Given the description of an element on the screen output the (x, y) to click on. 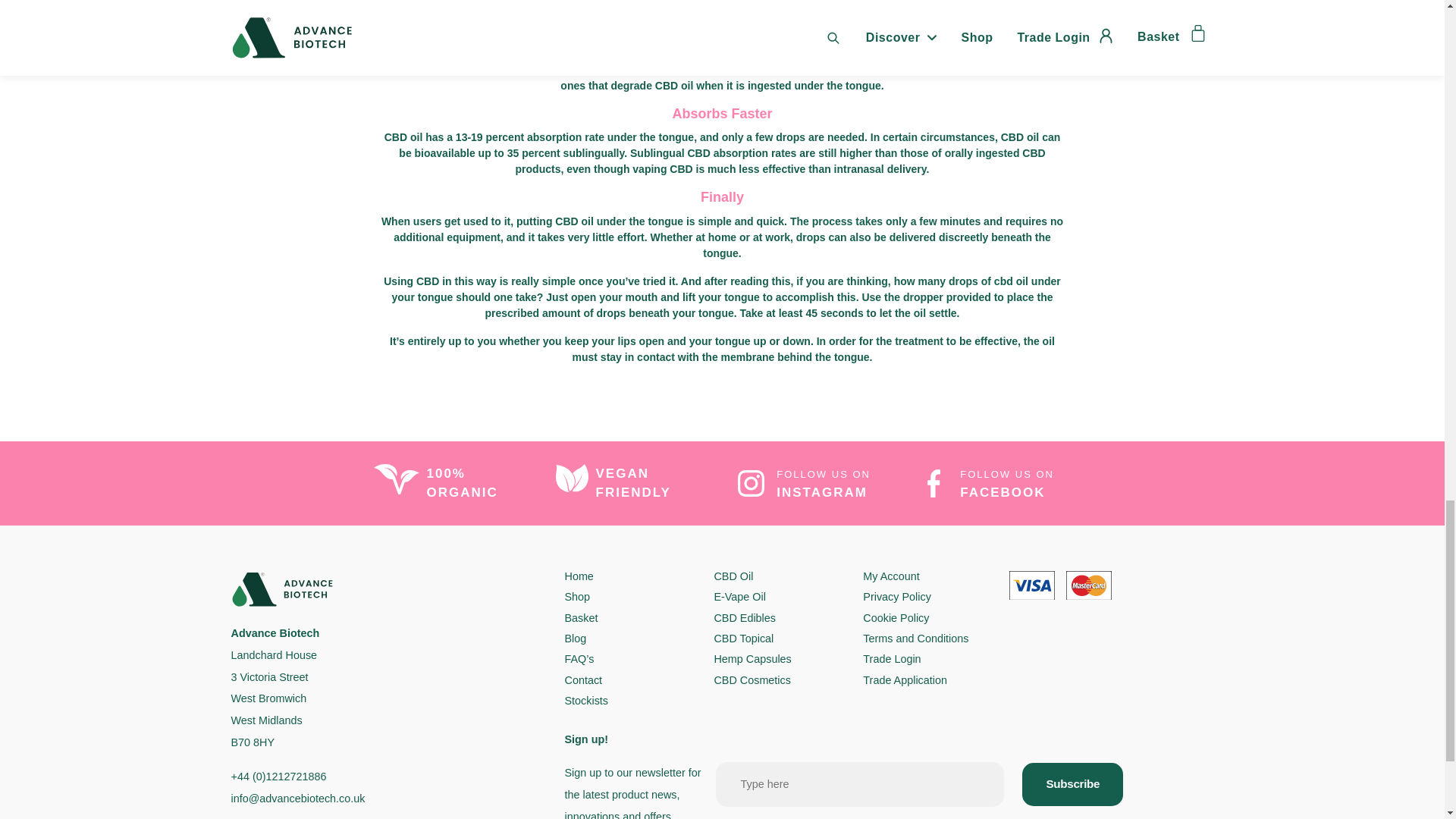
Basket (580, 617)
Twitter Icon (749, 483)
Terms and Conditions (915, 638)
Blog (575, 638)
Trade Application (905, 680)
CBD Edibles (744, 617)
Facebook Logo (932, 483)
Trade Login (891, 658)
CBD Topical (743, 638)
Shop (576, 596)
